Given the description of an element on the screen output the (x, y) to click on. 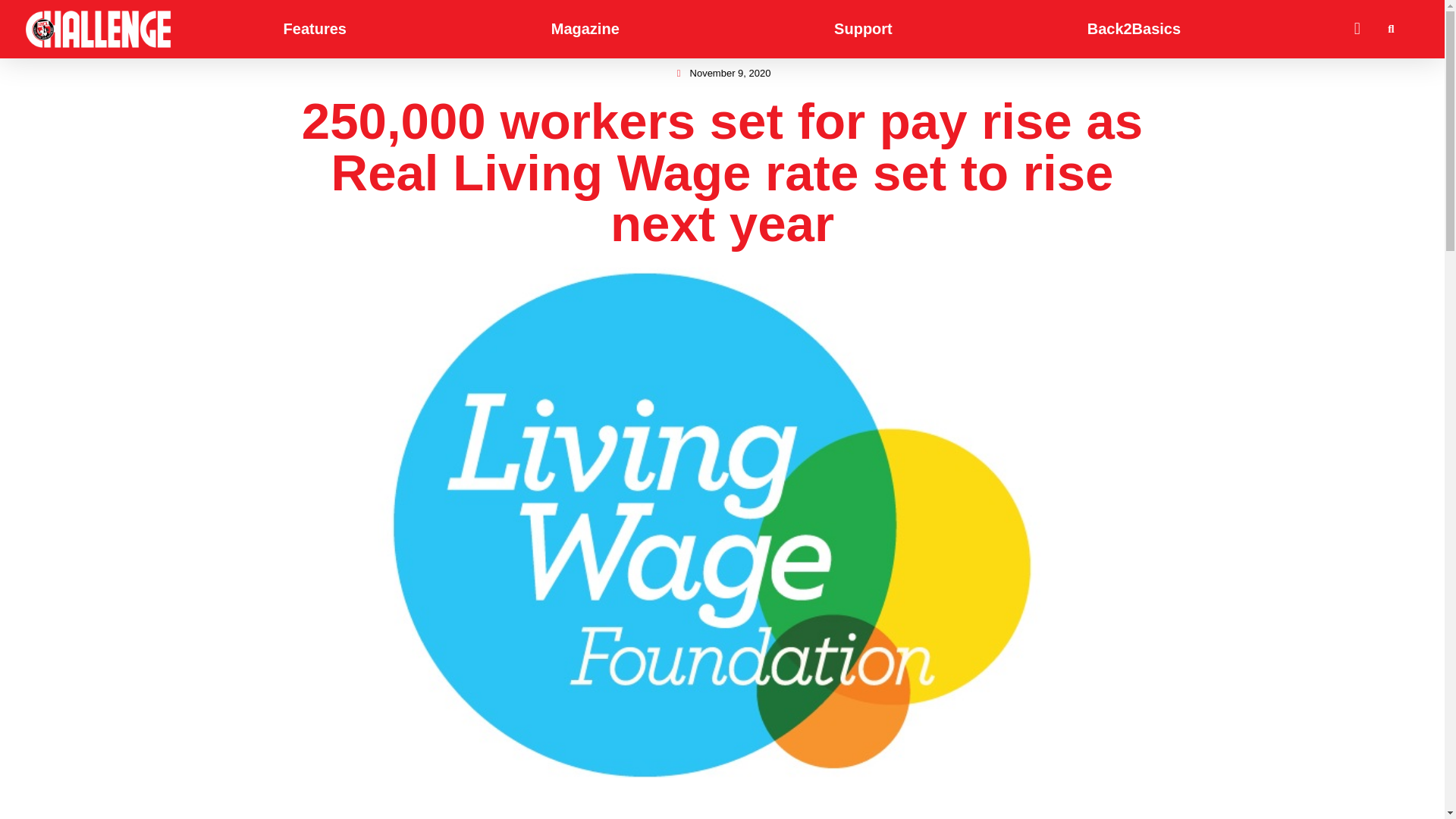
Features (314, 28)
Back2Basics (1134, 28)
Magazine (585, 28)
Support (863, 28)
